Given the description of an element on the screen output the (x, y) to click on. 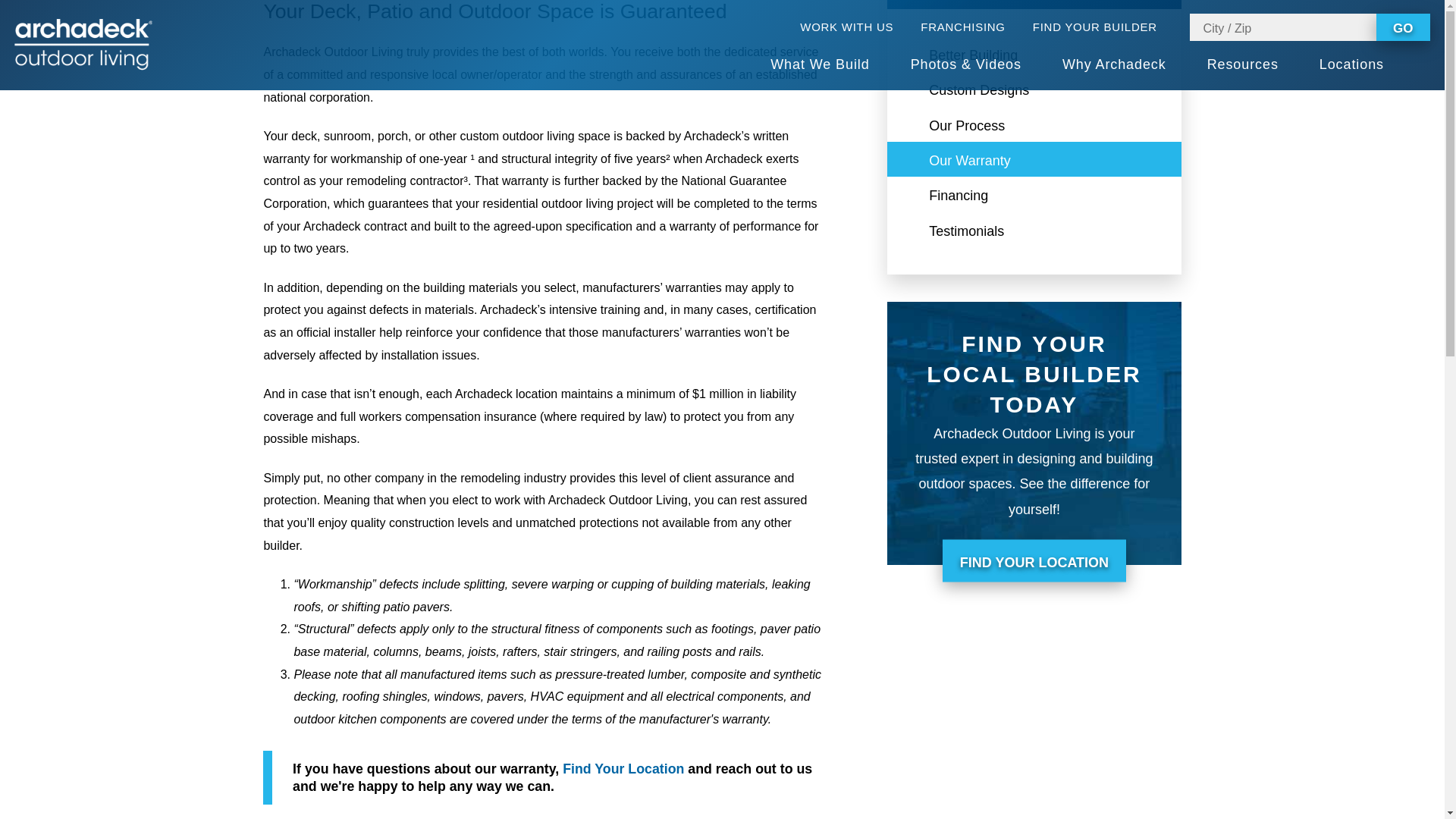
FRANCHISING (962, 26)
Resources (1242, 65)
What We Build (819, 65)
WORK WITH US (846, 26)
Why Archadeck (1114, 65)
GO (1402, 26)
Archadeck (83, 44)
FIND YOUR BUILDER (1104, 26)
